Given the description of an element on the screen output the (x, y) to click on. 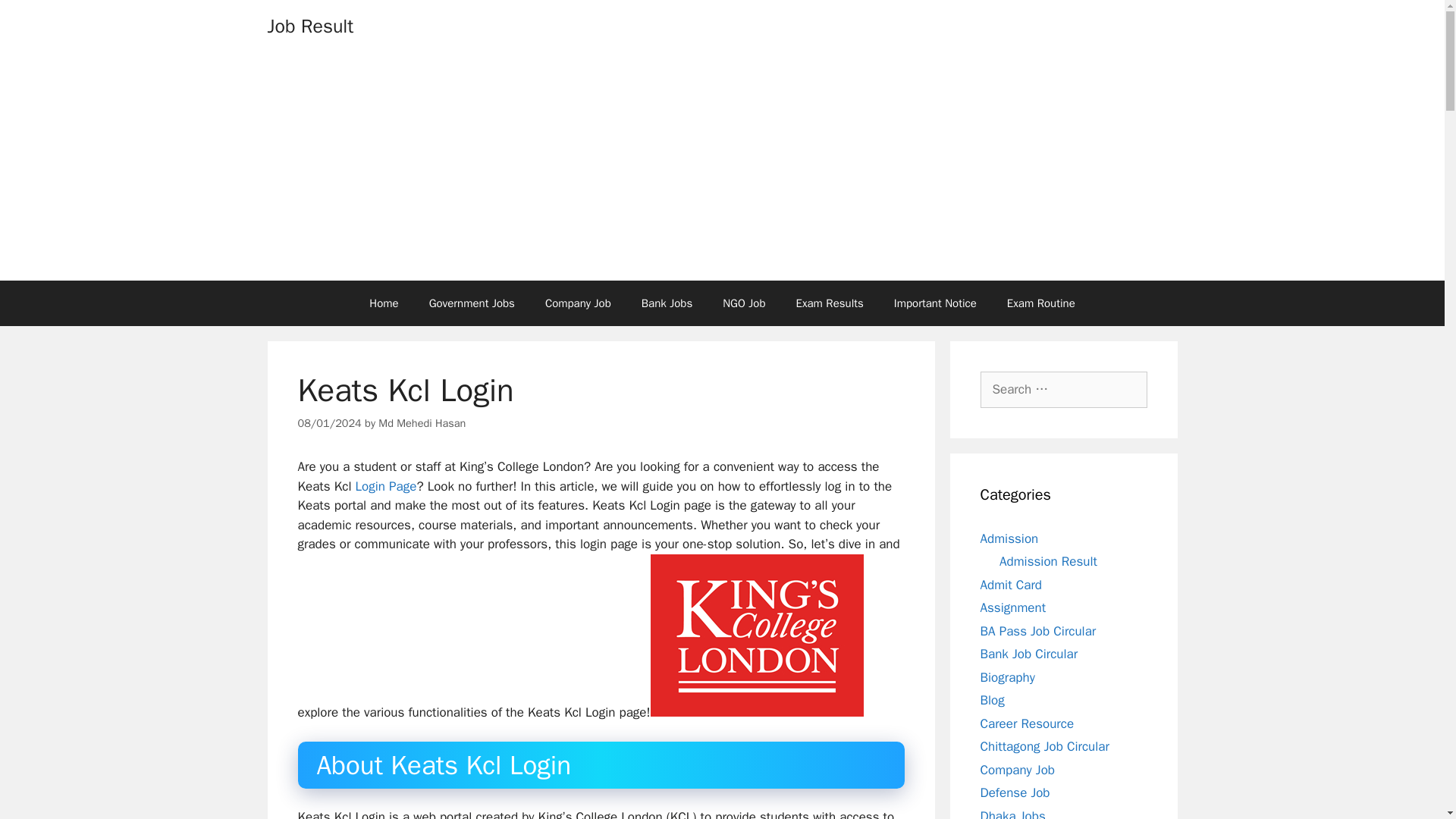
View all posts by Md Mehedi Hasan (421, 422)
Biography (1006, 676)
Chittagong Job Circular (1043, 746)
Exam Routine (1040, 302)
Bank Jobs (666, 302)
Login Page (385, 486)
NGO Job (743, 302)
Search (35, 18)
Admission (1008, 538)
Defense Job (1014, 792)
Important Notice (935, 302)
Company Job (1016, 769)
Admission Result (1047, 561)
Search for: (1063, 389)
Home (383, 302)
